Given the description of an element on the screen output the (x, y) to click on. 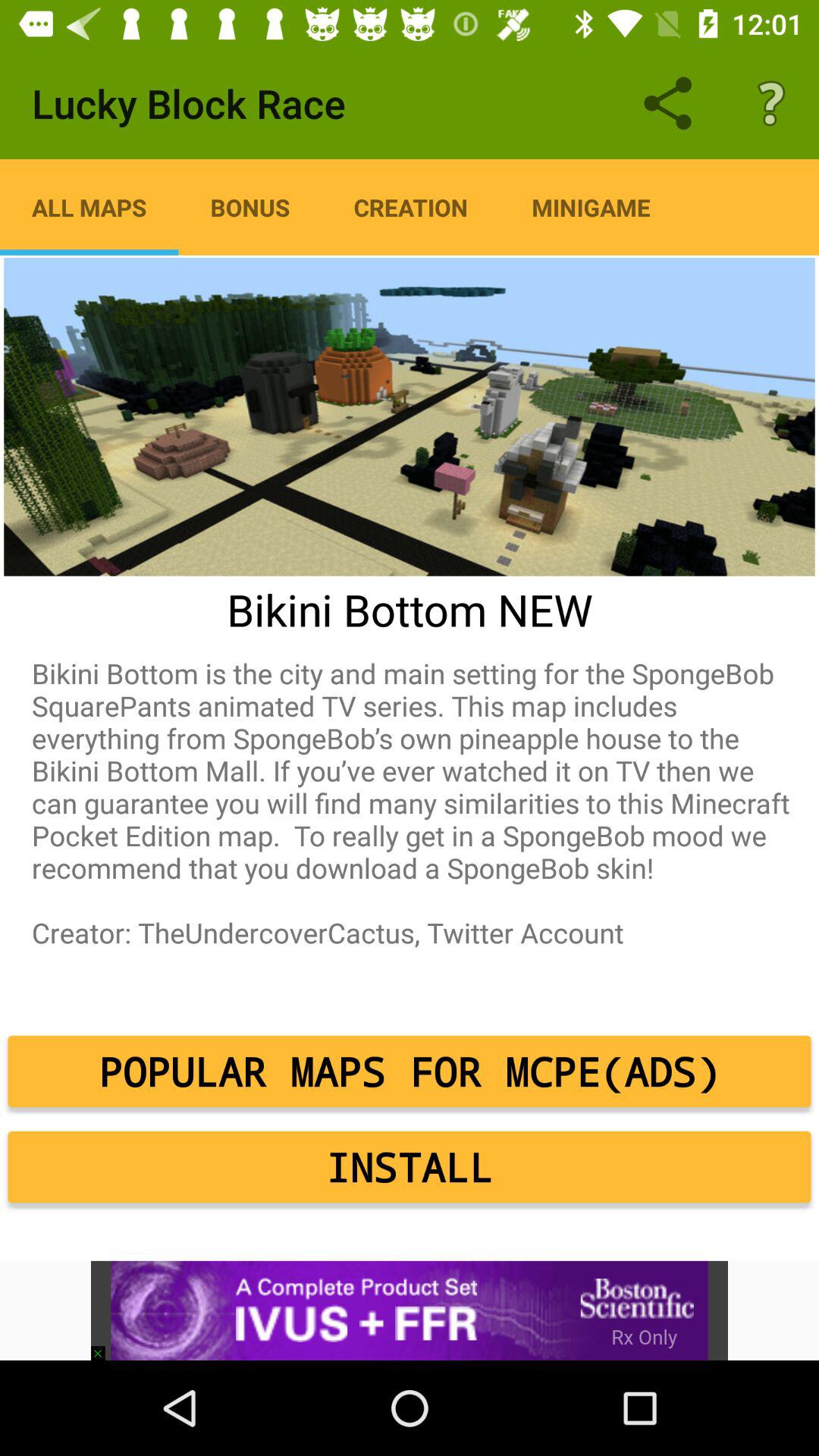
click popular maps for icon (409, 1071)
